Given the description of an element on the screen output the (x, y) to click on. 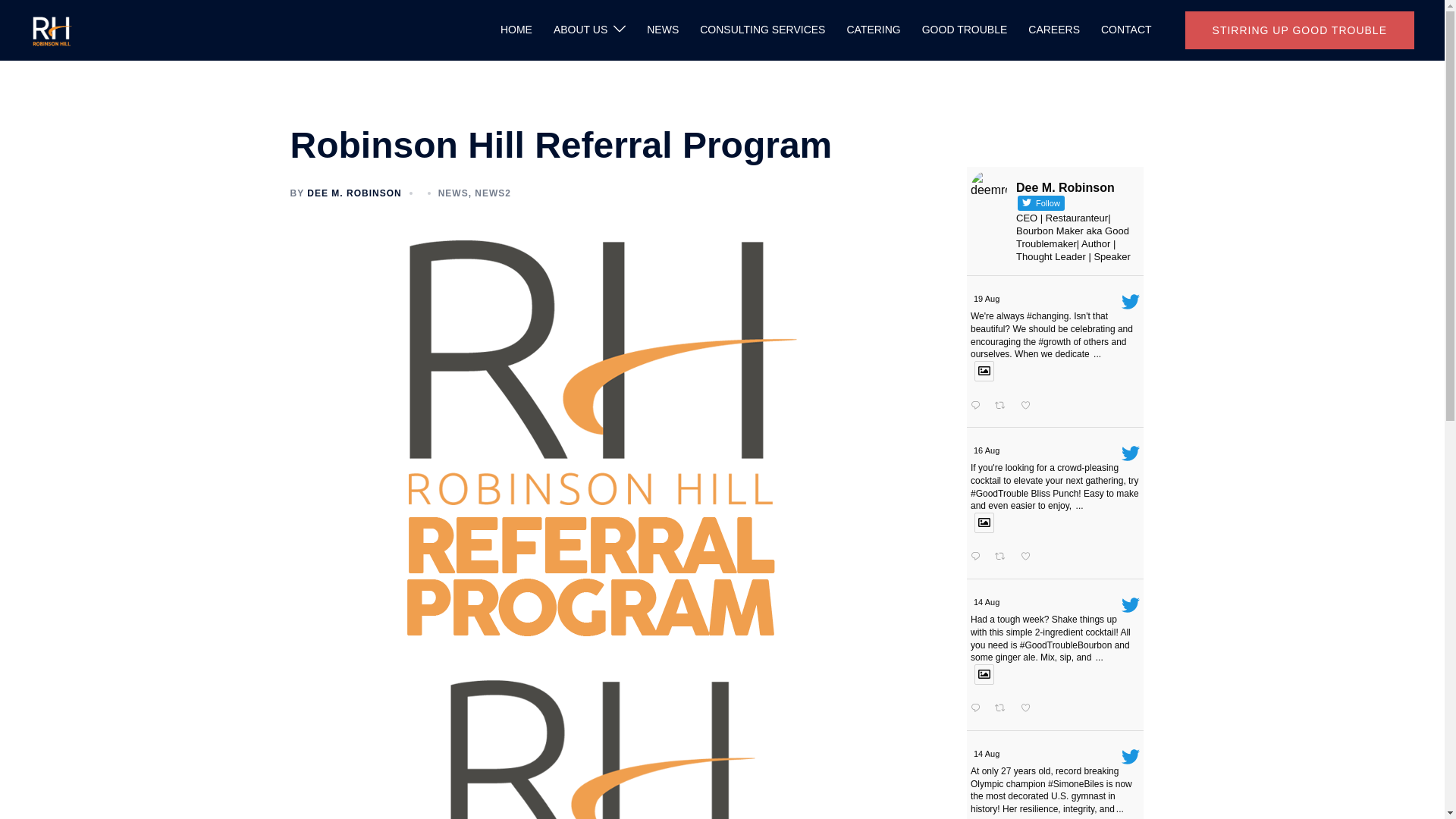
ABOUT US (580, 30)
Robinson Hill (50, 29)
GOOD TROUBLE (964, 30)
STIRRING UP GOOD TROUBLE (1299, 30)
NEWS2 (492, 193)
DEE M. ROBINSON (354, 193)
HOME (516, 30)
CATERING (872, 30)
NEWS (453, 193)
CONTACT (1125, 30)
